Given the description of an element on the screen output the (x, y) to click on. 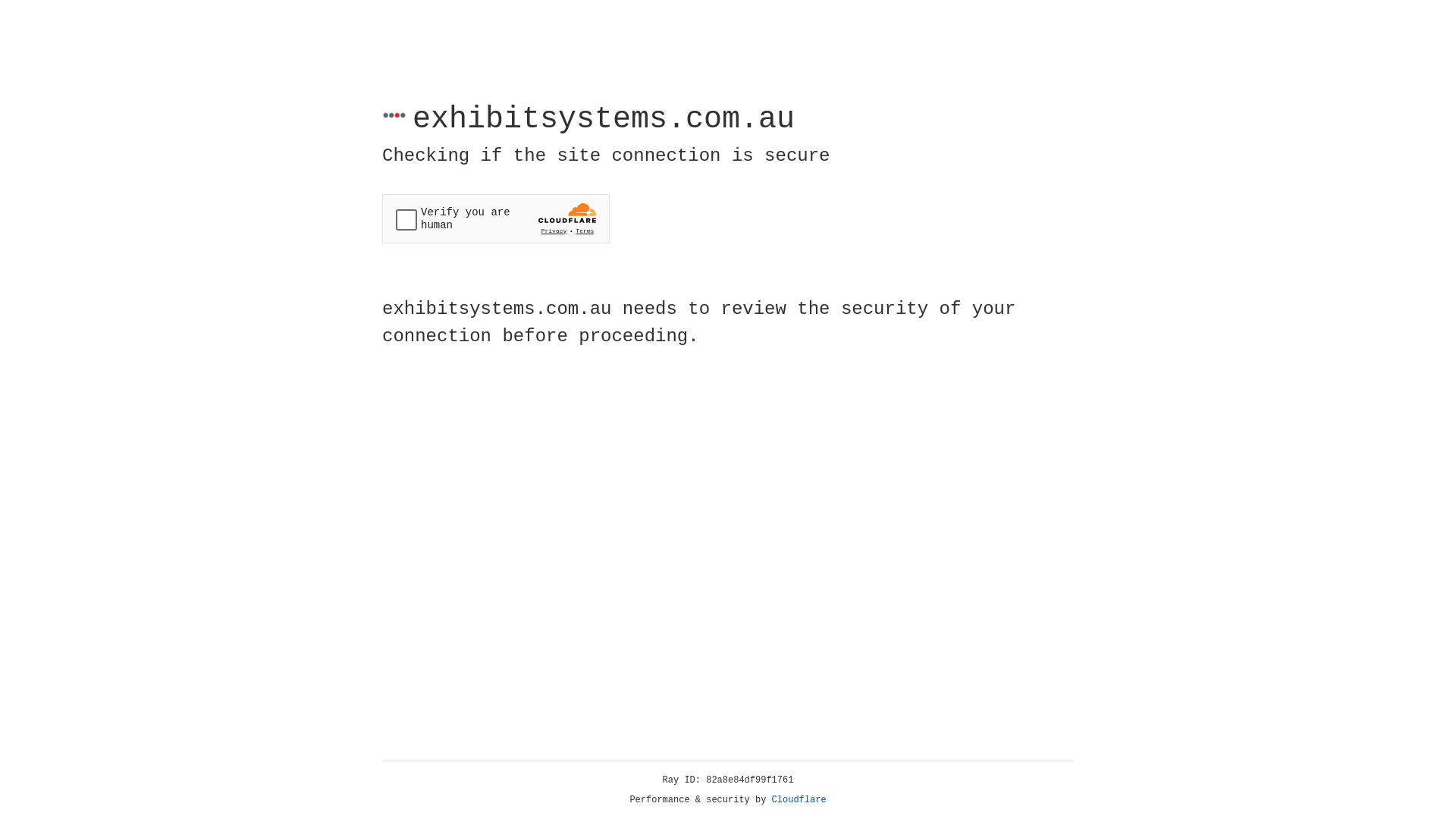
Widget containing a Cloudflare security challenge Element type: hover (495, 218)
Cloudflare Element type: text (798, 799)
